Given the description of an element on the screen output the (x, y) to click on. 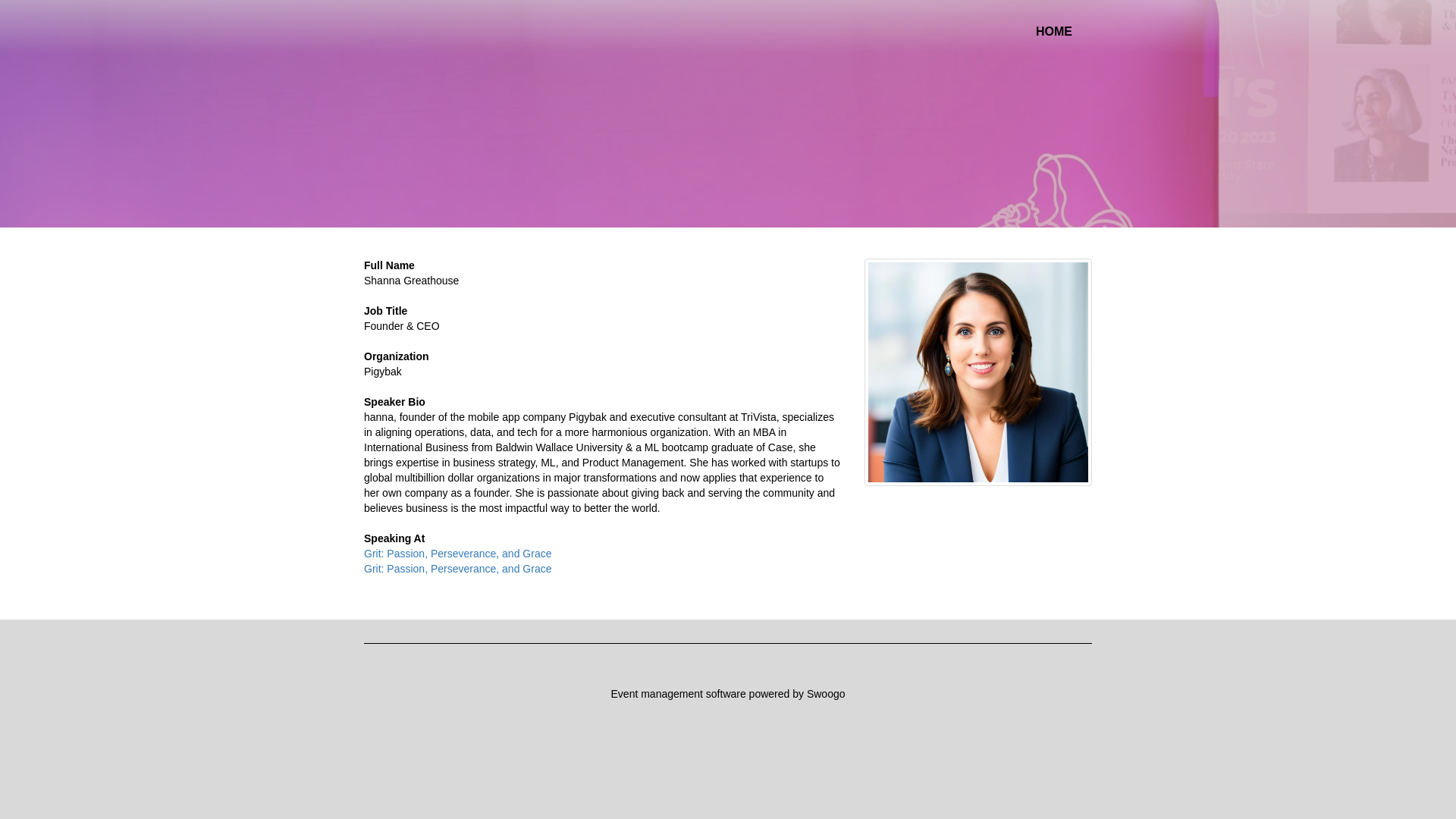
Grit: Passion, Perseverance, and Grace (457, 553)
HOME (1053, 31)
Swoogo (825, 693)
Grit: Passion, Perseverance, and Grace (457, 568)
Session Details (457, 553)
Session Details (457, 568)
